Given the description of an element on the screen output the (x, y) to click on. 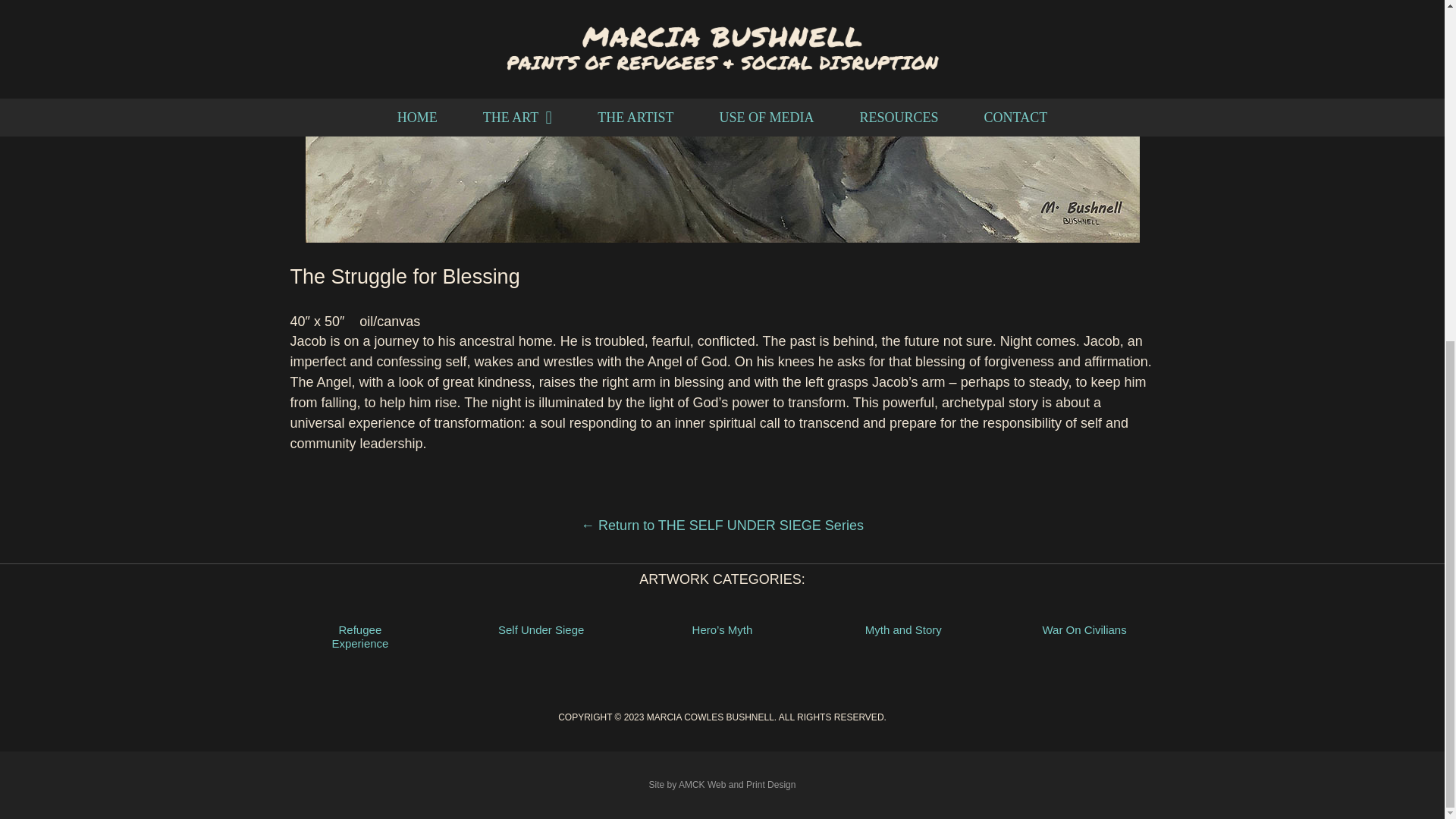
AMCK Web and Print Design (737, 784)
Refugee Experience (359, 637)
Self Under Siege (540, 630)
Self Under Siege (540, 630)
Myth and Story (903, 630)
War On Civilians (1084, 630)
Refugee Experience (359, 637)
Hero's Myth (722, 630)
War On Civilians (1084, 630)
